Given the description of an element on the screen output the (x, y) to click on. 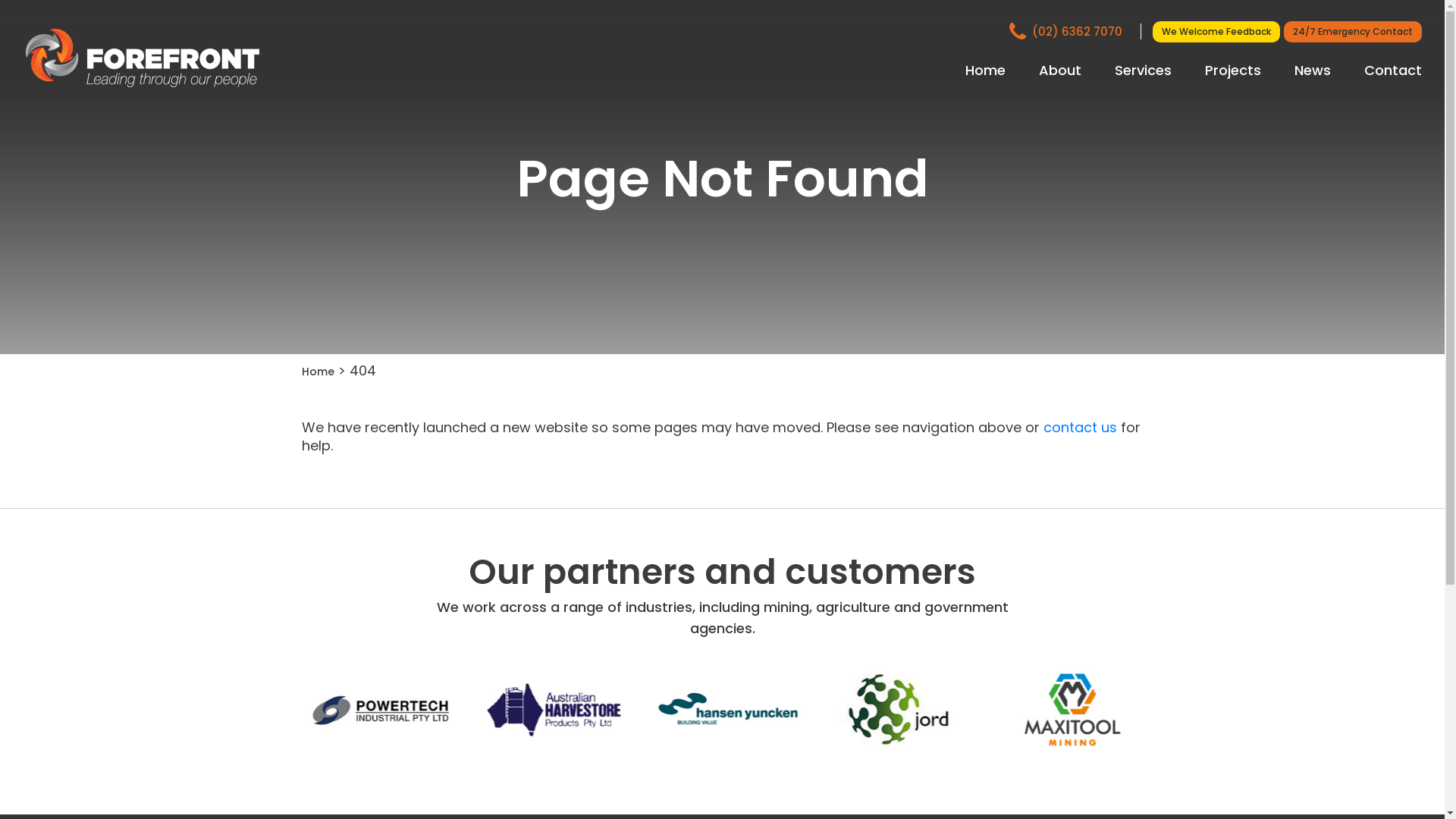
Home Element type: text (985, 70)
contact us Element type: text (1080, 426)
(02) 6362 7070 Element type: text (1075, 31)
24/7 Emergency Contact Element type: text (1352, 31)
About Element type: text (1059, 70)
Projects Element type: text (1232, 70)
Home Element type: text (317, 371)
Services Element type: text (1142, 70)
Contact Element type: text (1392, 70)
News Element type: text (1312, 70)
We Welcome Feedback Element type: text (1216, 31)
